Given the description of an element on the screen output the (x, y) to click on. 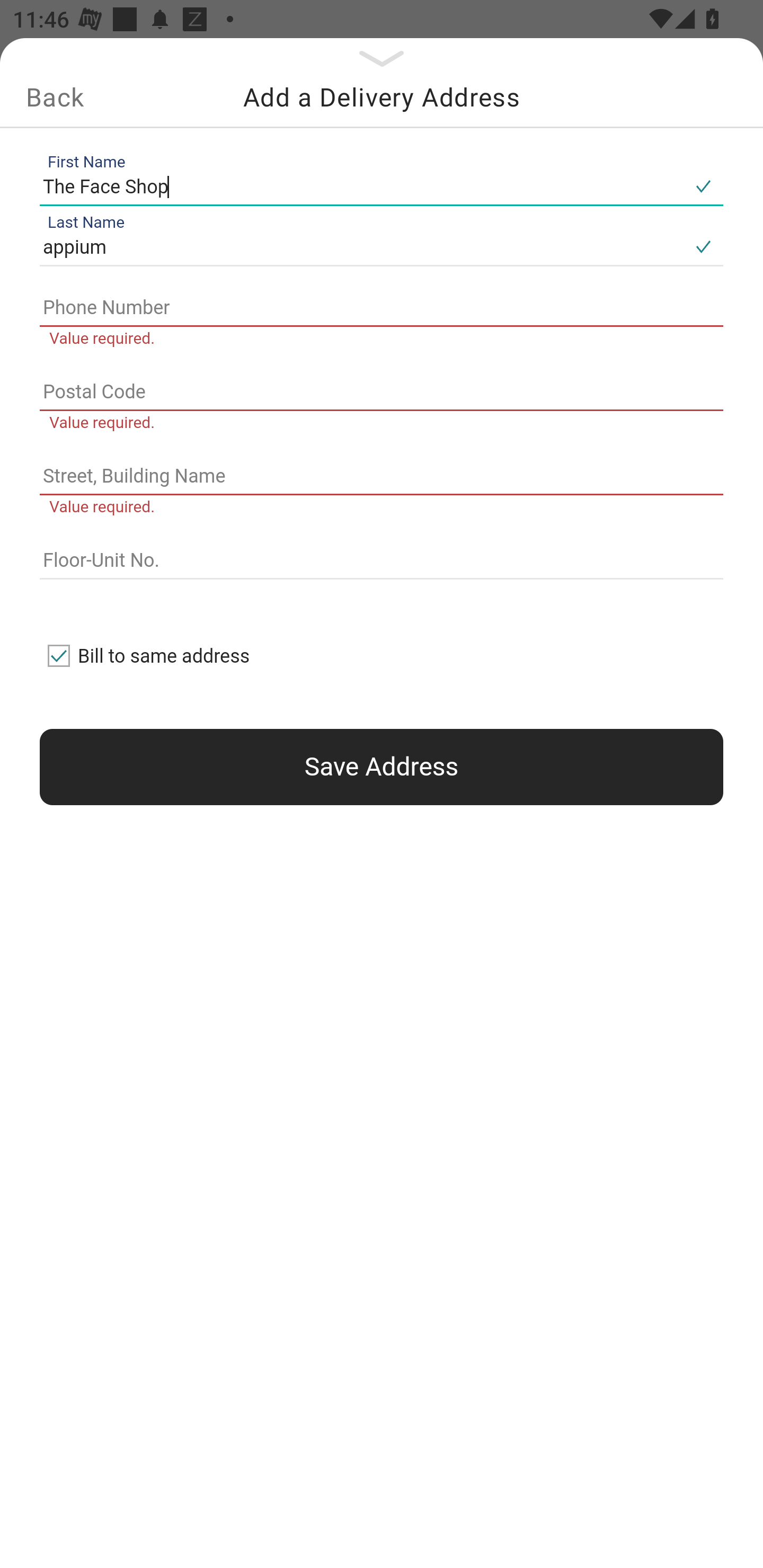
Back (54, 96)
Add a Delivery Address (381, 96)
The Face Shop (361, 186)
appium (361, 247)
Save Address (381, 767)
